Given the description of an element on the screen output the (x, y) to click on. 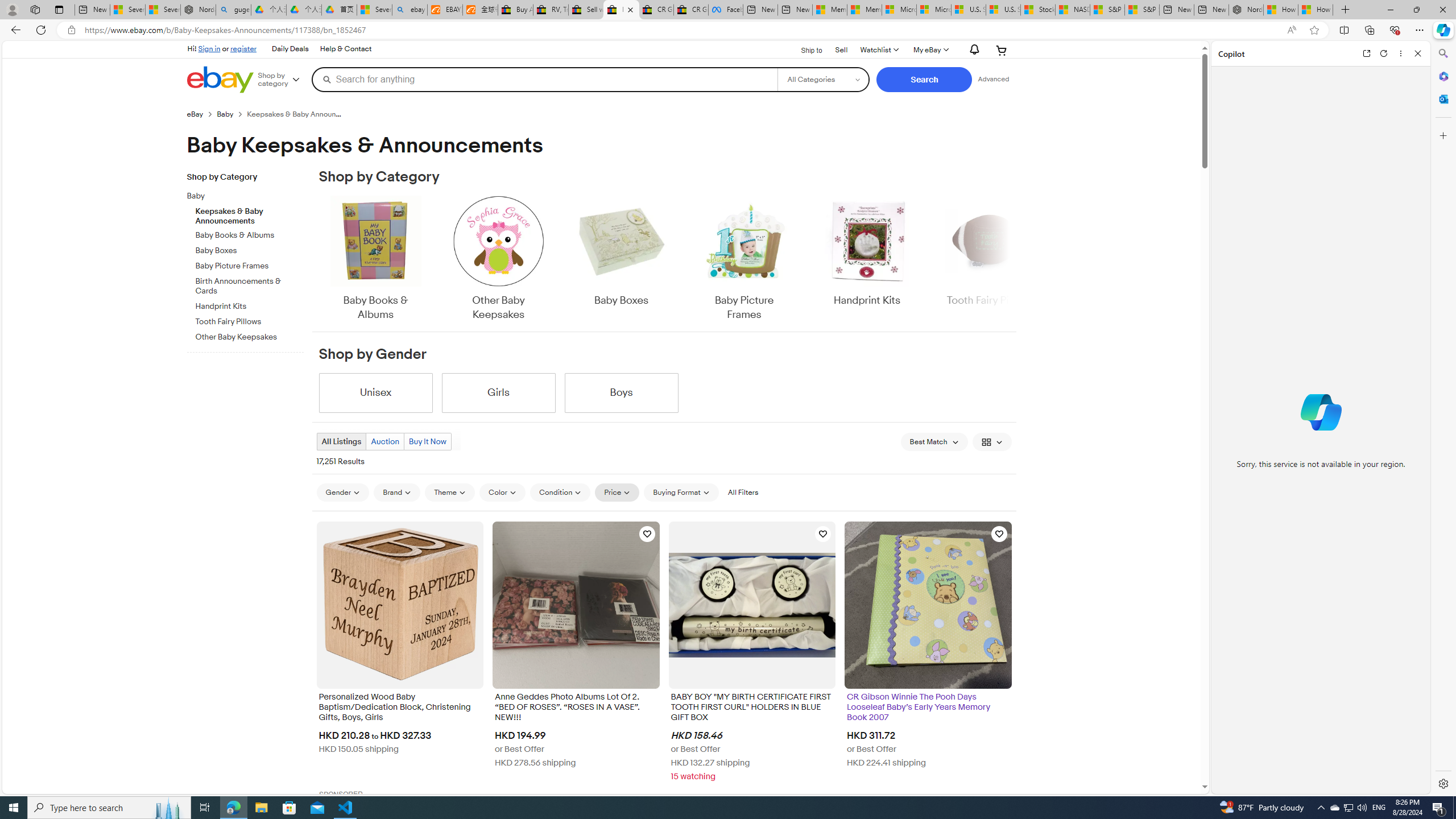
All Listings Current view (341, 441)
Brand (397, 492)
Buy Auto Parts & Accessories | eBay (515, 9)
Gender (342, 492)
Other Baby Keepsakes (498, 258)
Auction (384, 441)
Baby Books & Albums (375, 258)
RV, Trailer & Camper Steps & Ladders for sale | eBay (550, 9)
All Filters (742, 492)
Baby Boxes (621, 258)
